Given the description of an element on the screen output the (x, y) to click on. 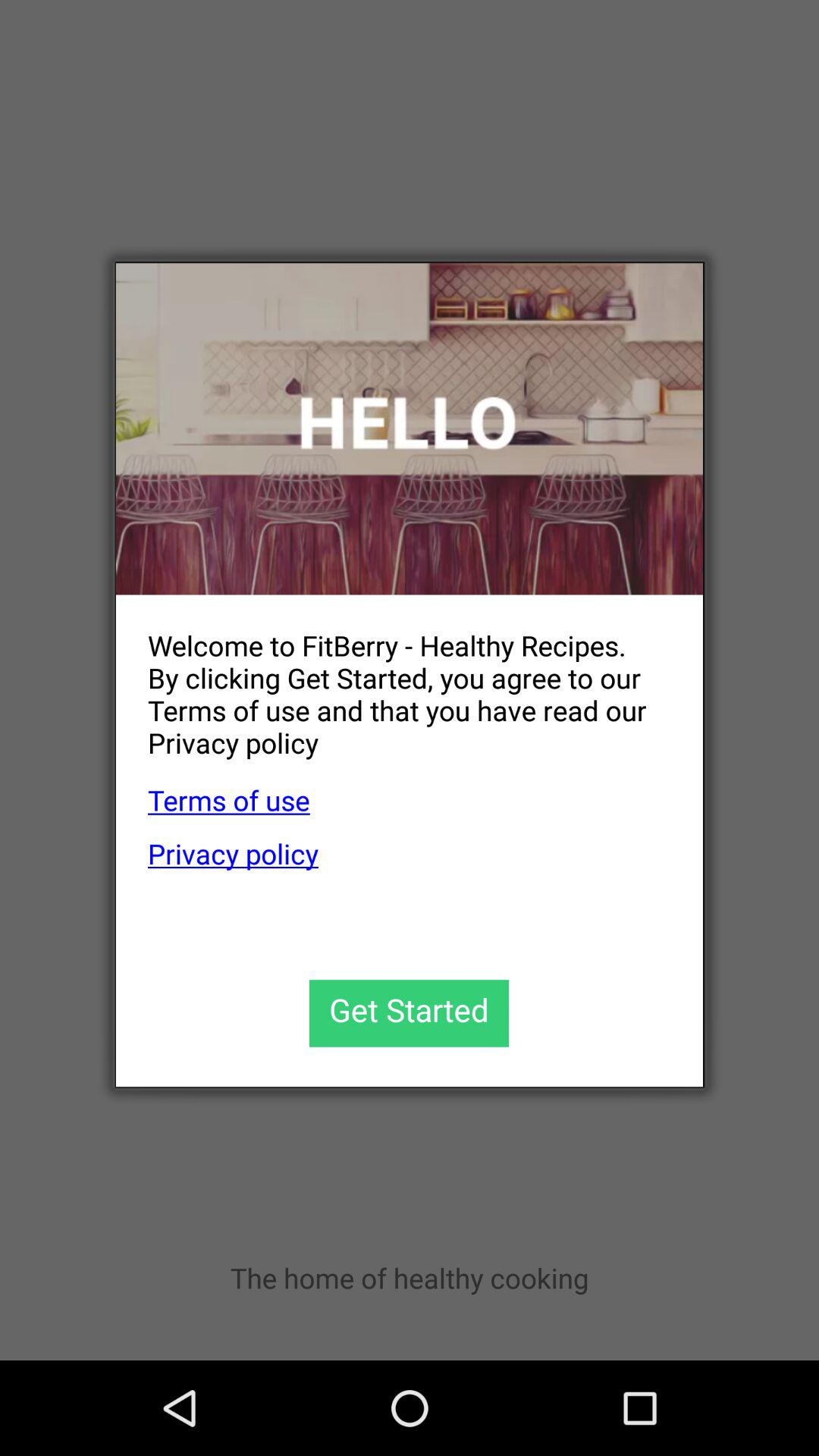
turn on icon at the top (409, 428)
